Given the description of an element on the screen output the (x, y) to click on. 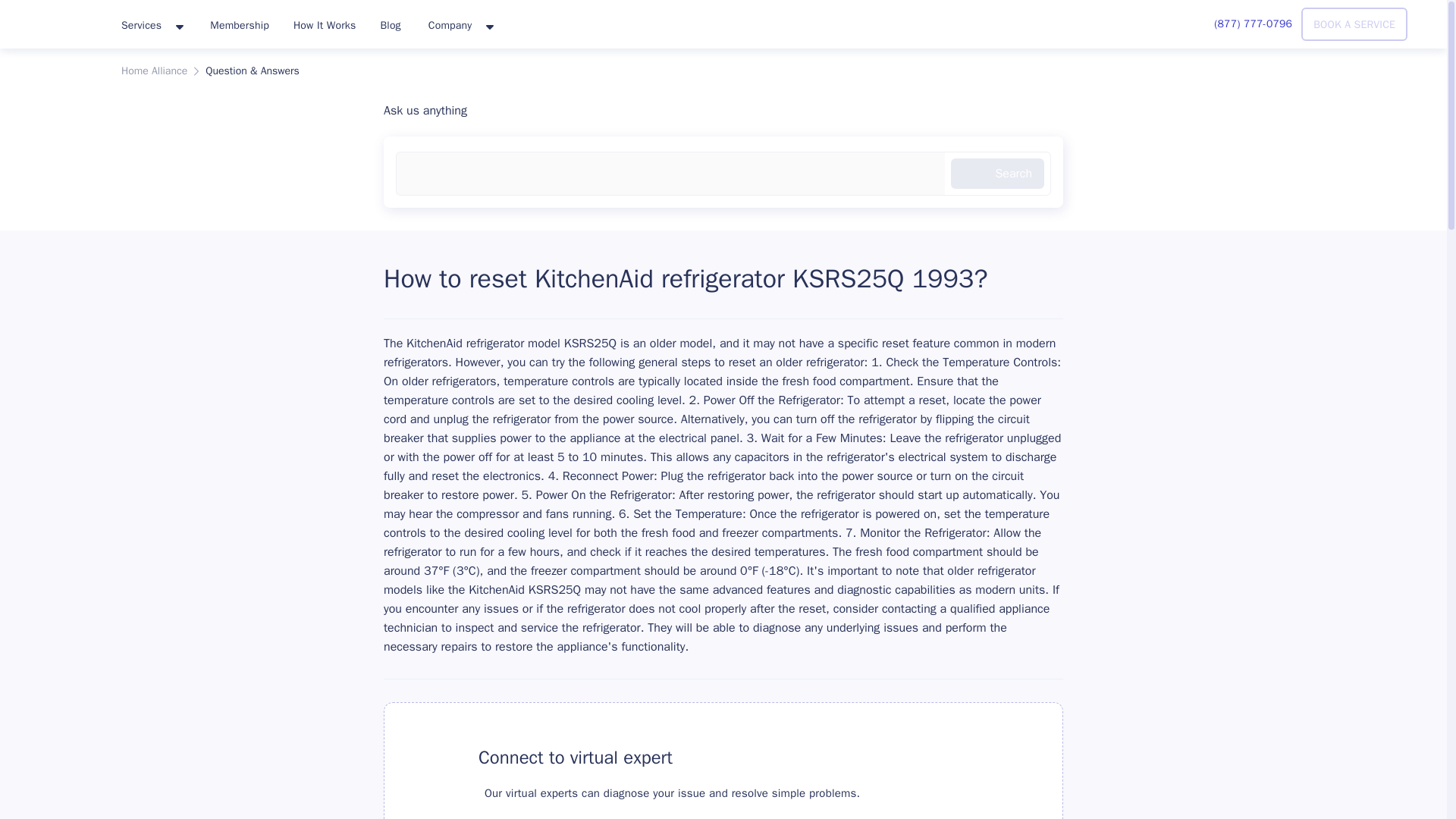
Membership (239, 24)
Home Alliance (153, 70)
How It Works (324, 24)
FAQ (438, 757)
Search (996, 173)
Connect Now (531, 810)
Services (151, 25)
HomeAlliance (55, 20)
Company (460, 25)
BOOK A SERVICE (1354, 23)
